Given the description of an element on the screen output the (x, y) to click on. 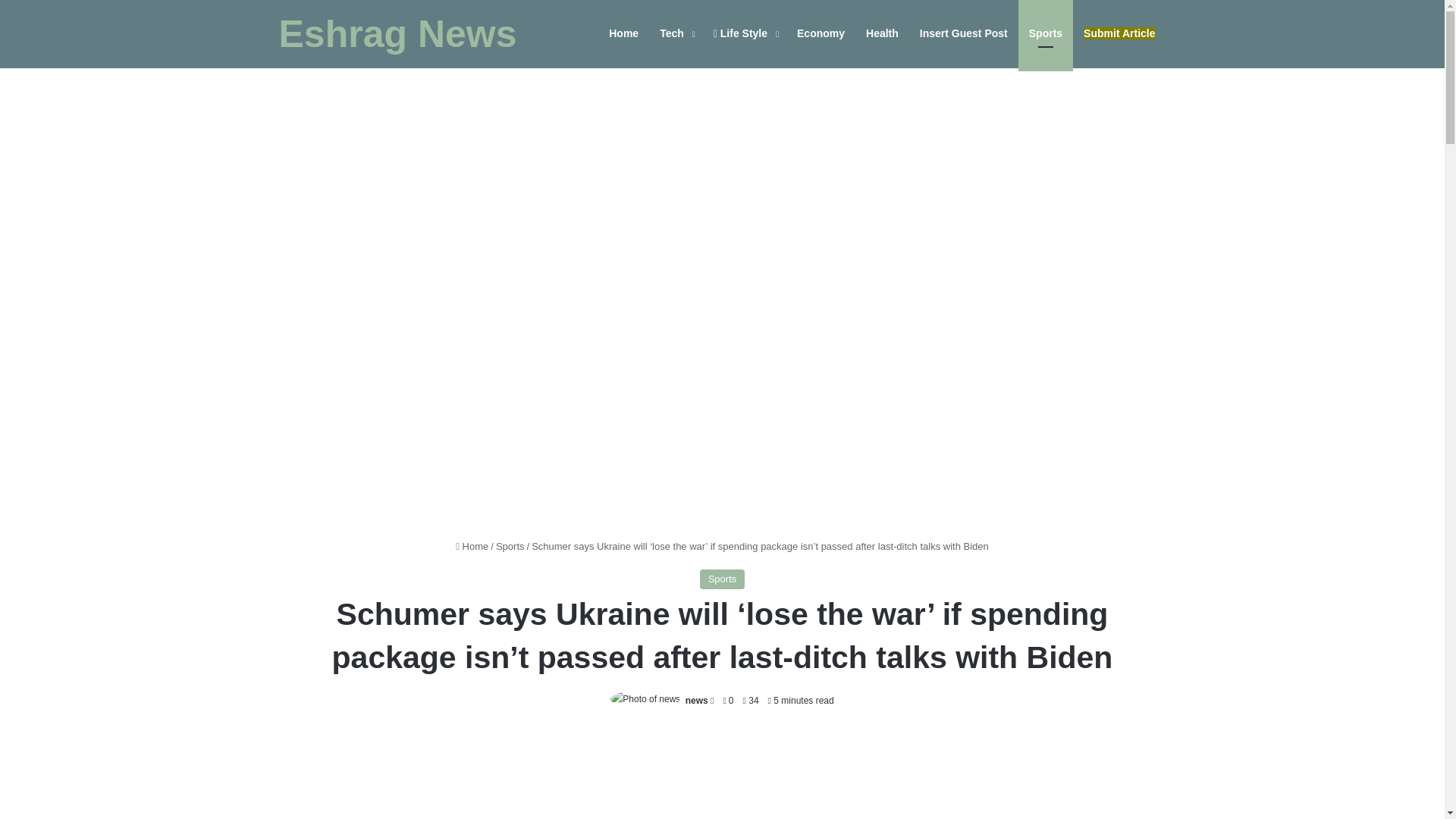
Eshrag News (397, 34)
Economy (821, 33)
Eshrag News (397, 34)
news (696, 700)
news (696, 700)
Sports (510, 546)
Submit Article (1119, 33)
Insert Guest Post (962, 33)
Advertisement (722, 775)
Life Style (744, 33)
Sports (722, 578)
Home (471, 546)
